Given the description of an element on the screen output the (x, y) to click on. 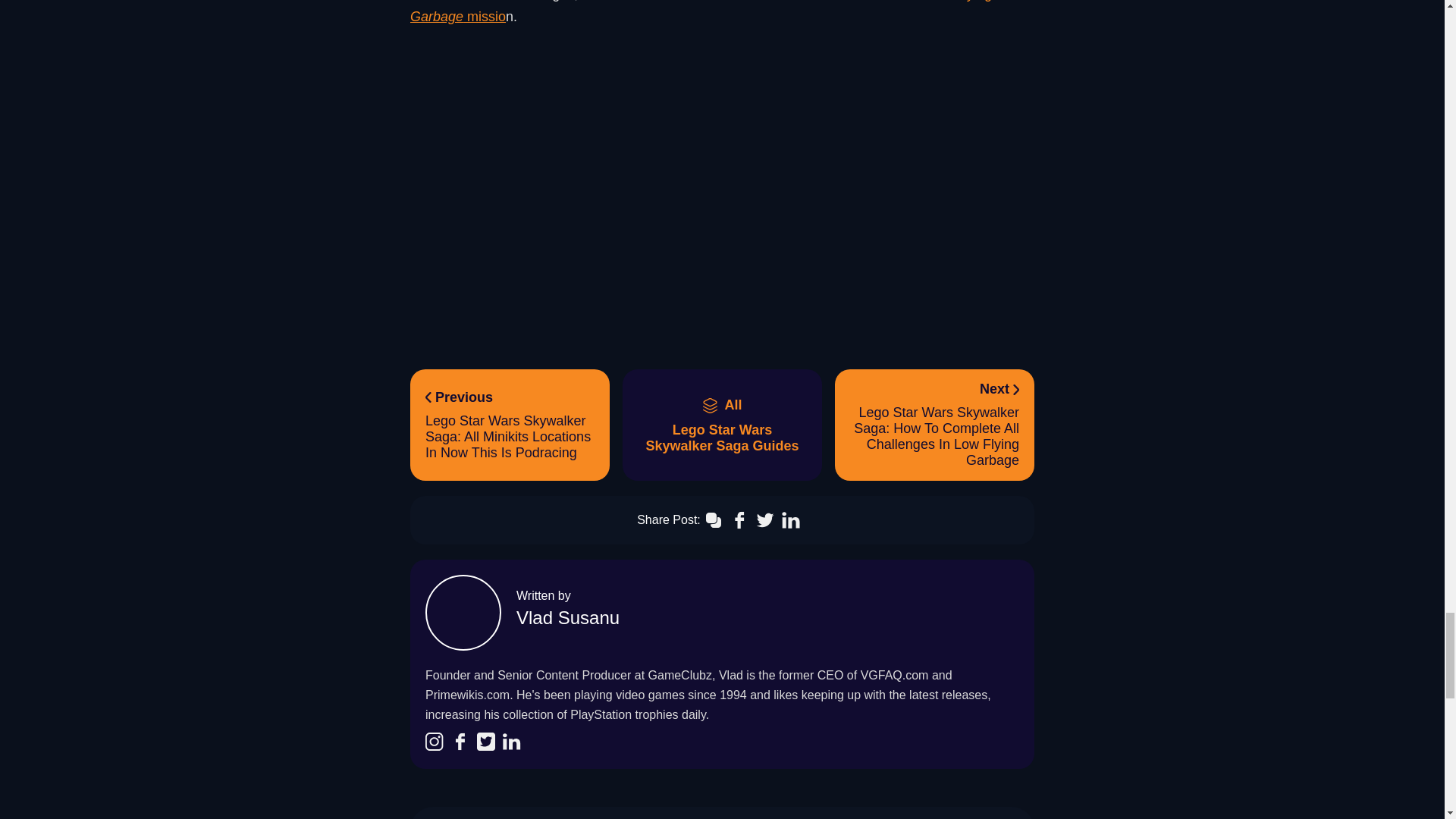
facebook (459, 742)
next three featured in the Low Flying Garbage missio (701, 12)
Vlad Susanu (568, 617)
twitter (486, 742)
instagram (722, 424)
linkedin (434, 742)
